Given the description of an element on the screen output the (x, y) to click on. 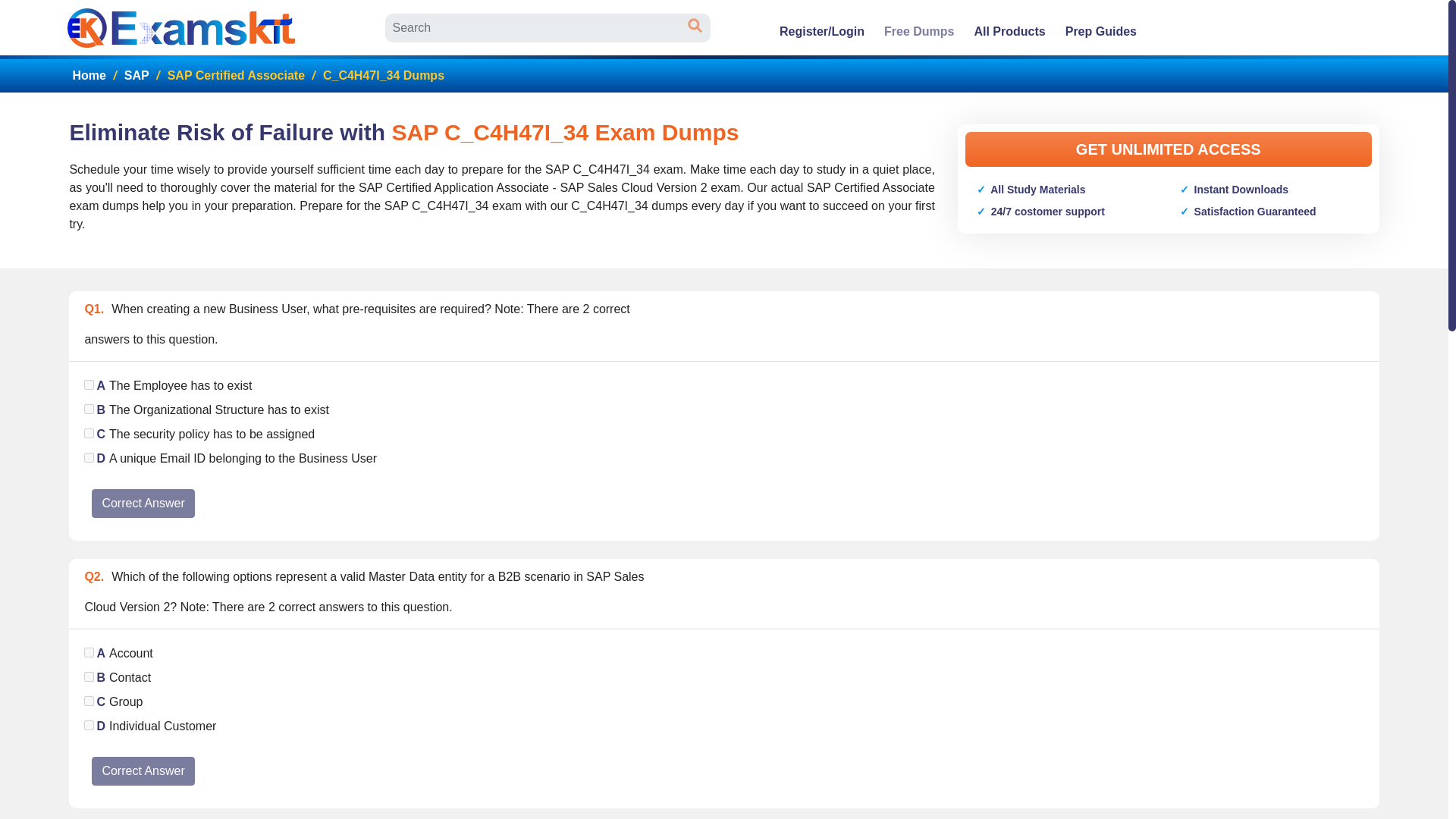
B (89, 409)
Free Dumps (919, 31)
C (89, 433)
D (89, 725)
C (89, 700)
A (89, 652)
B (89, 676)
D (89, 457)
A (89, 384)
